Given the description of an element on the screen output the (x, y) to click on. 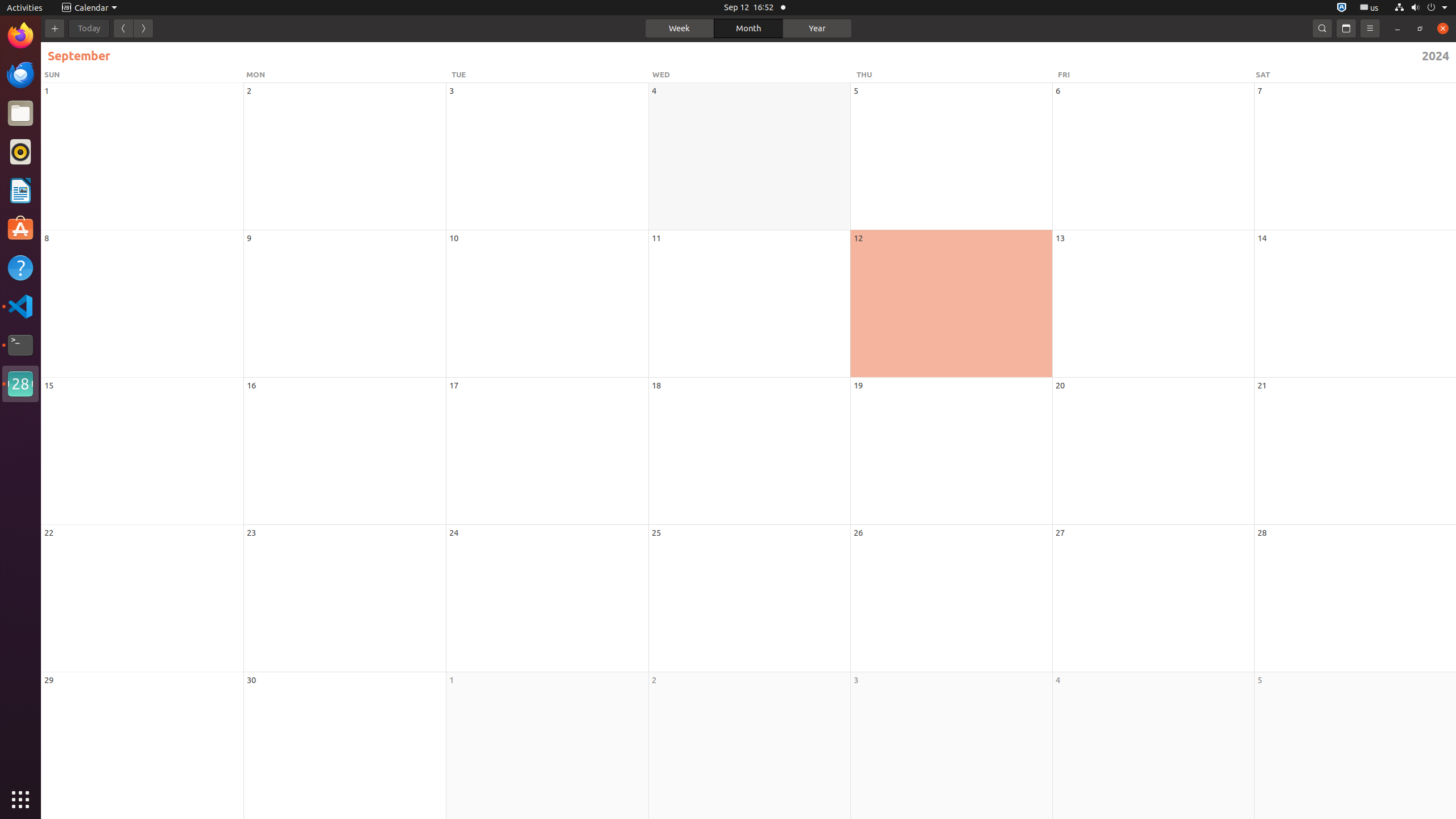
15 Element type: label (48, 385)
16 Element type: label (250, 385)
